Given the description of an element on the screen output the (x, y) to click on. 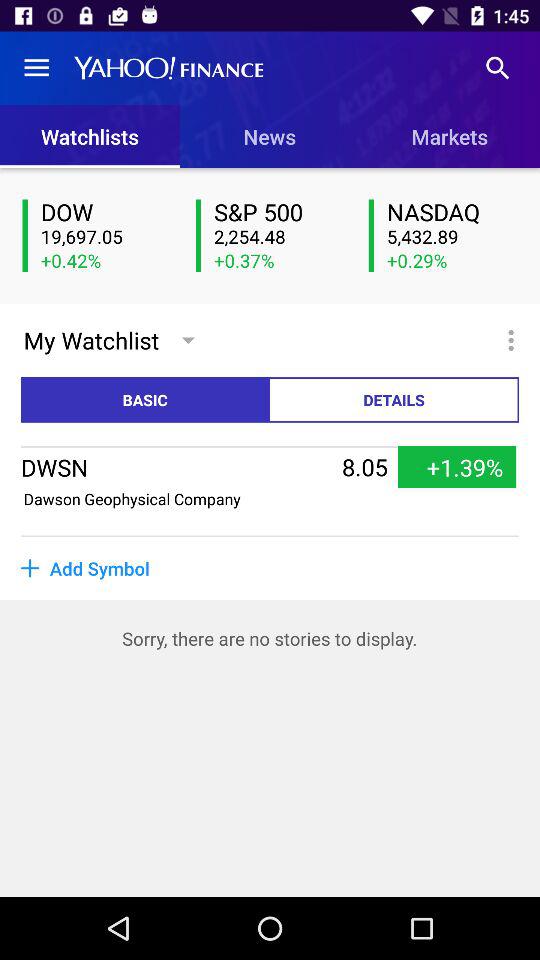
choose 5,432.89 item (451, 237)
